Given the description of an element on the screen output the (x, y) to click on. 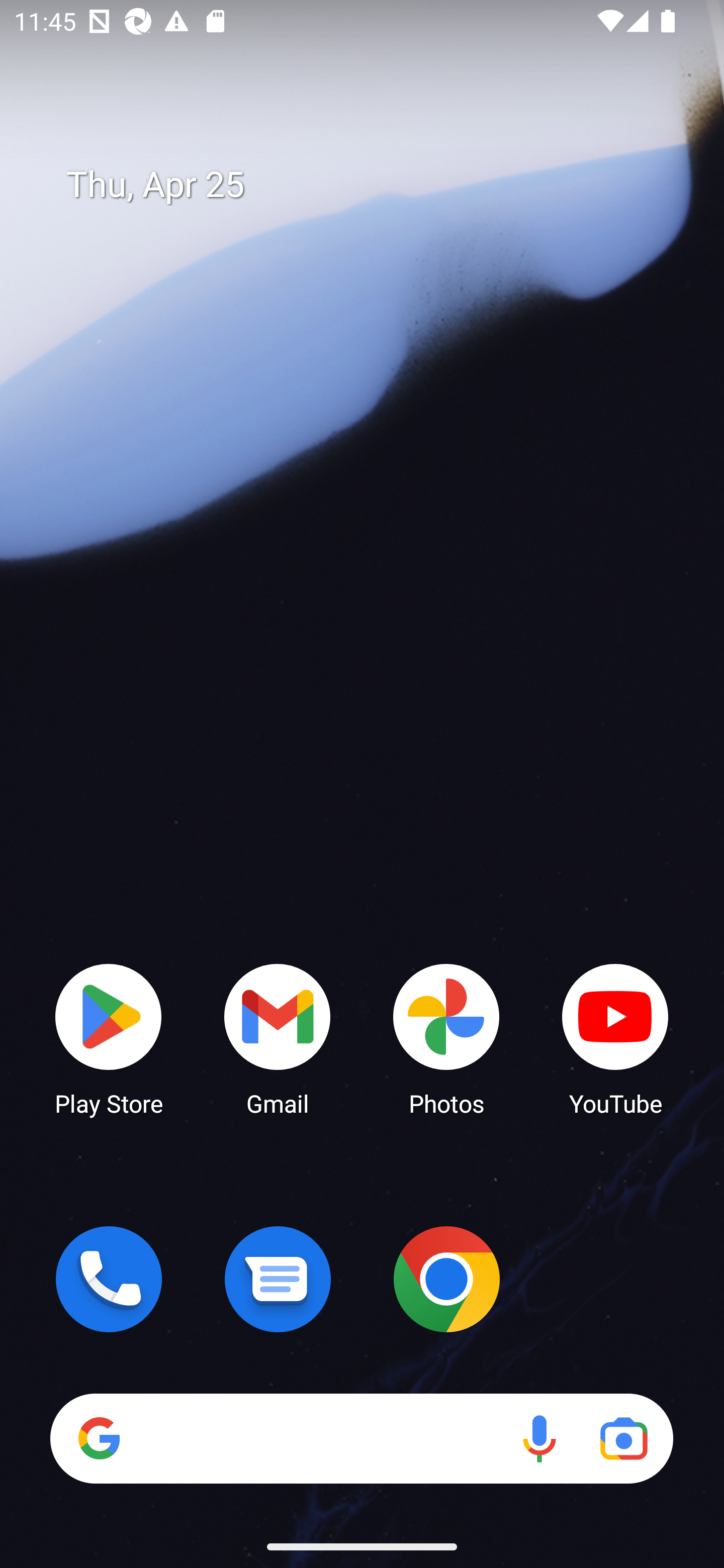
Thu, Apr 25 (375, 184)
Play Store (108, 1038)
Gmail (277, 1038)
Photos (445, 1038)
YouTube (615, 1038)
Phone (108, 1279)
Messages (277, 1279)
Chrome (446, 1279)
Search Voice search Google Lens (361, 1438)
Voice search (539, 1438)
Google Lens (623, 1438)
